Given the description of an element on the screen output the (x, y) to click on. 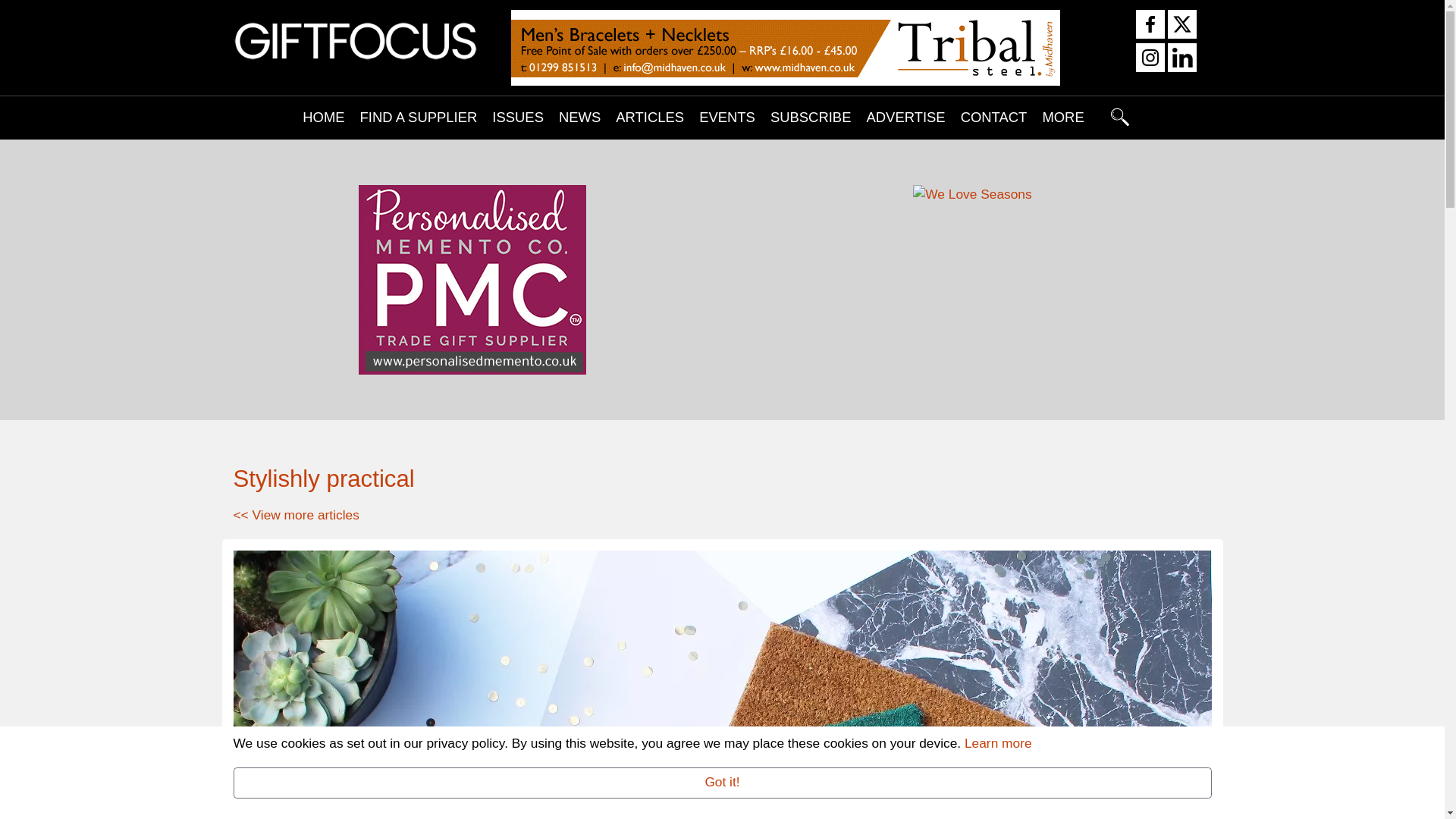
Learn more (997, 743)
Midhaven Ltd (785, 46)
search (1120, 117)
The Personalised Memento Co (471, 278)
View more articles (295, 514)
Follow Gift Focus on Instagram (1149, 58)
Gift Focus (355, 39)
Find Gift Focus on Facebook (1149, 25)
Follow Gift Focus on Twitter (1181, 25)
FIND A SUPPLIER (418, 117)
Got it! (721, 782)
Follow Gift Focus on LinkedIn (1181, 58)
HOME (322, 117)
We Love Seasons (971, 193)
